Given the description of an element on the screen output the (x, y) to click on. 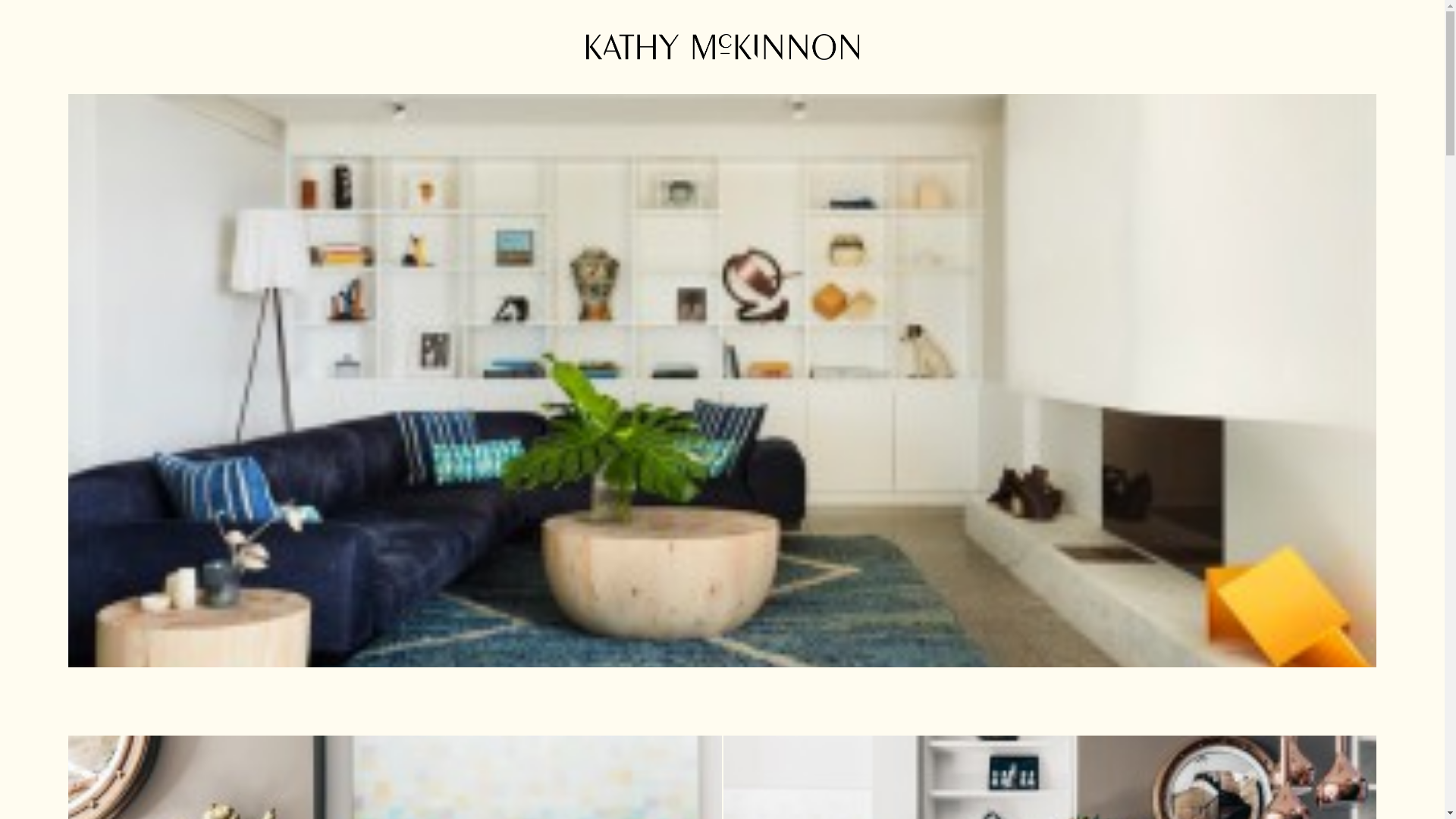
KMcK - Styling and Interior Design Element type: hover (721, 47)
